Given the description of an element on the screen output the (x, y) to click on. 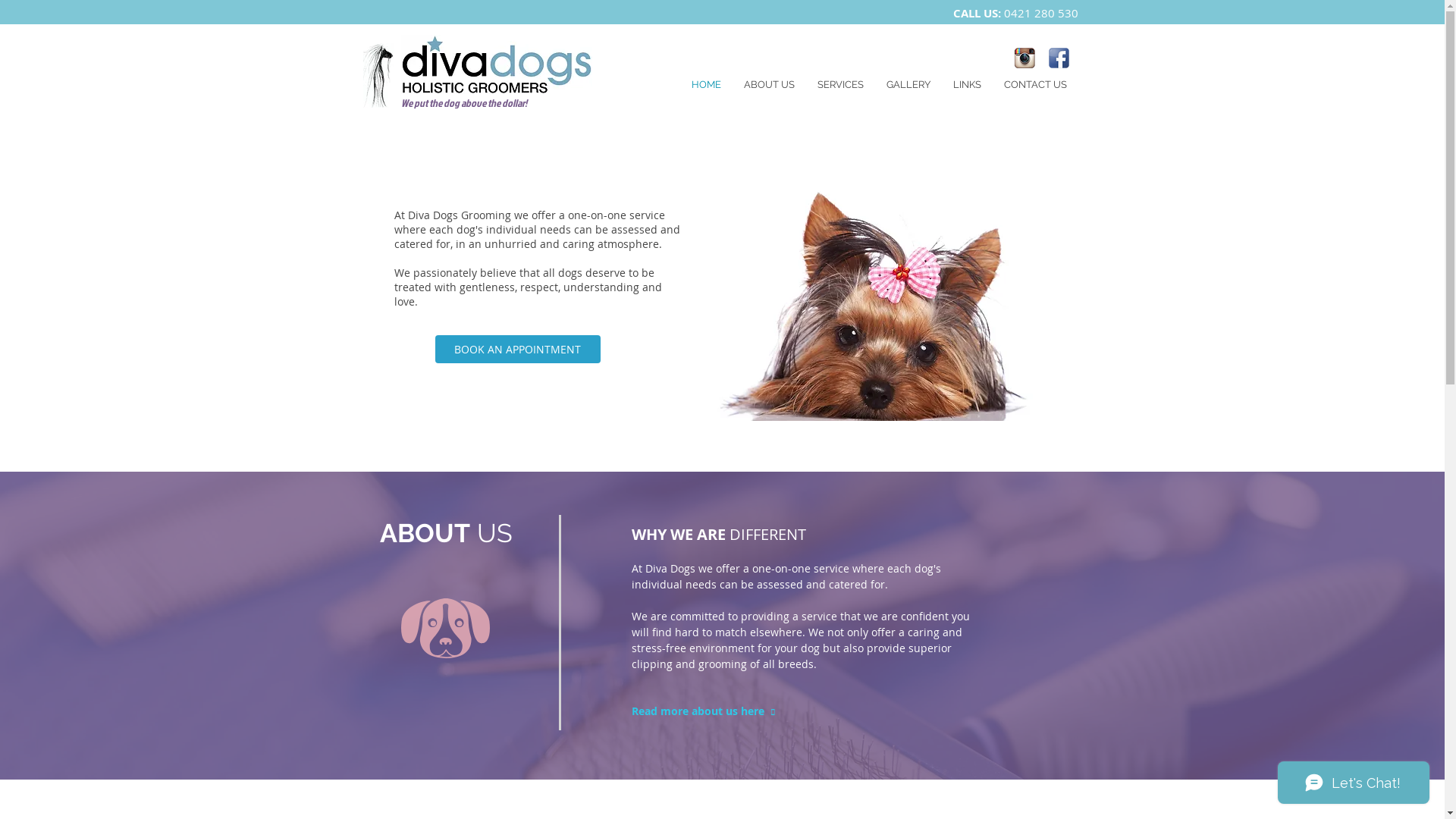
ABOUT US Element type: text (769, 84)
SERVICES Element type: text (839, 84)
canstockphoto10500821.jpg Element type: hover (883, 303)
GALLERY Element type: text (908, 84)
BOOK AN APPOINTMENT Element type: text (517, 349)
LINKS Element type: text (966, 84)
CONTACT US Element type: text (1034, 84)
HOME Element type: text (705, 84)
social_facebook_box_blue.png Element type: hover (1058, 57)
